Given the description of an element on the screen output the (x, y) to click on. 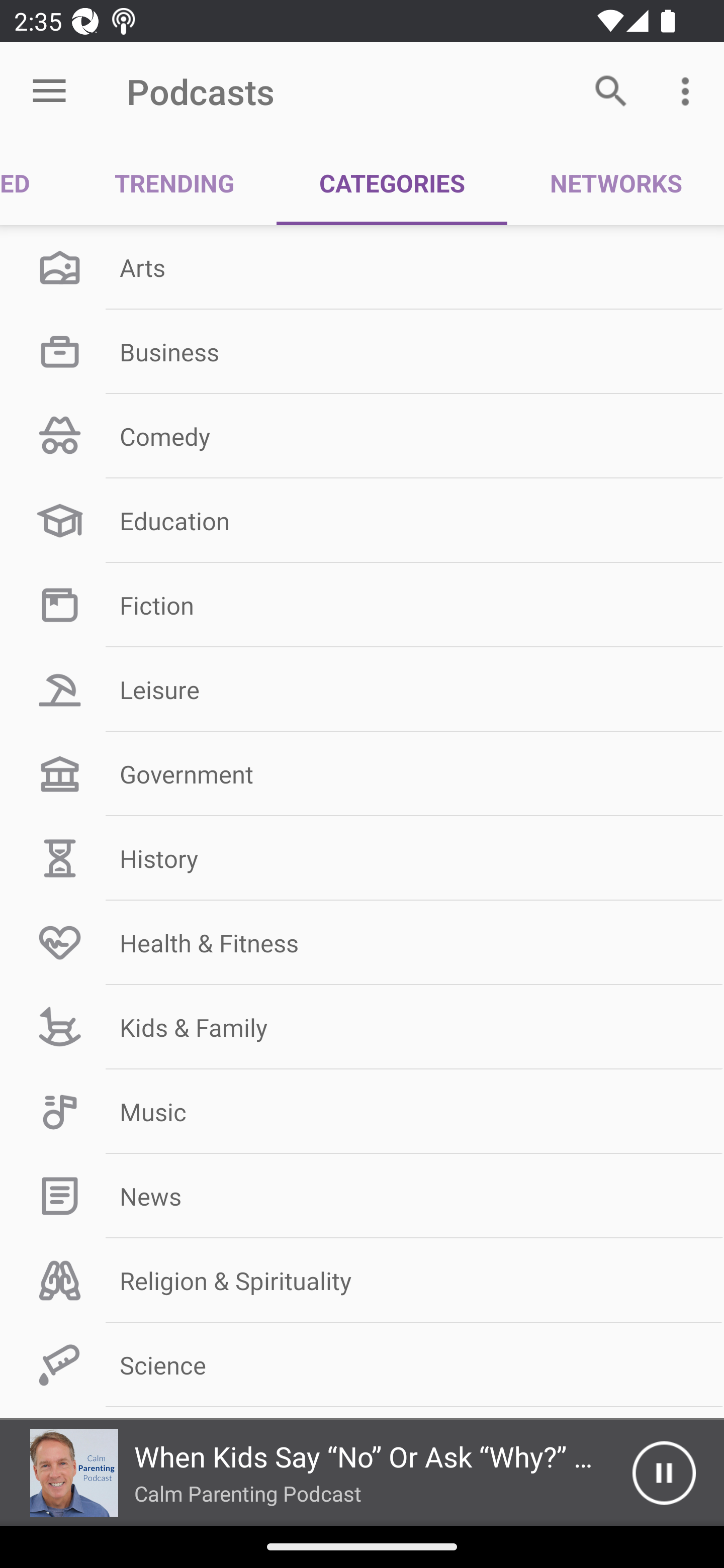
Open menu (49, 91)
Search (611, 90)
More options (688, 90)
TRENDING (174, 183)
CATEGORIES (391, 183)
NETWORKS (615, 183)
Arts (362, 266)
Business (362, 350)
Comedy (362, 435)
Education (362, 520)
Fiction (362, 604)
Leisure (362, 689)
Government (362, 774)
History (362, 858)
Health & Fitness (362, 942)
Kids & Family (362, 1026)
Music (362, 1111)
News (362, 1196)
Religion & Spirituality (362, 1280)
Science (362, 1364)
Pause (663, 1472)
